Given the description of an element on the screen output the (x, y) to click on. 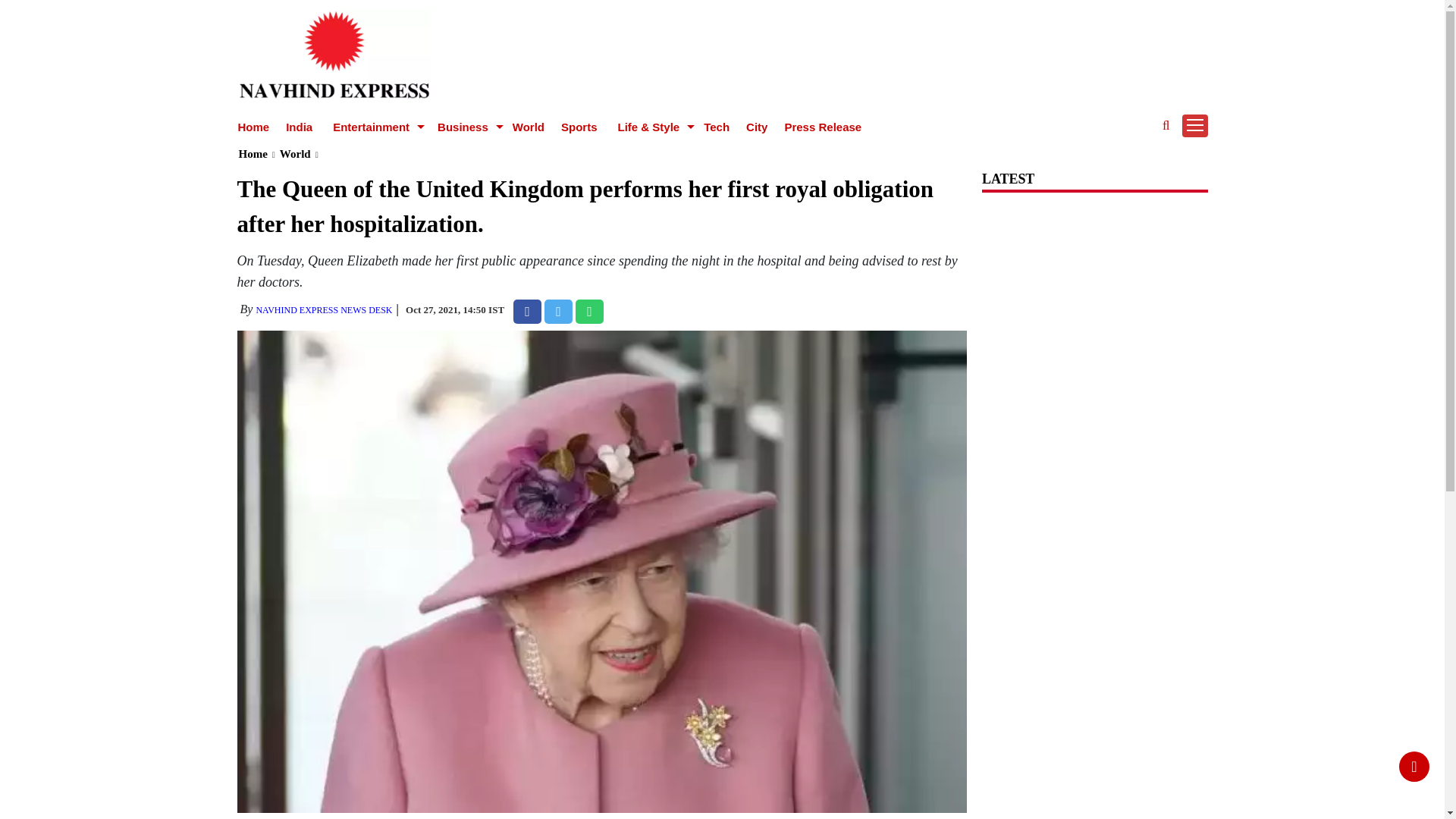
World (528, 126)
City (756, 126)
India (299, 126)
Home (253, 126)
Tech (716, 126)
Press Release (822, 126)
Sports (578, 126)
Entertainment (372, 126)
Business (464, 126)
